Given the description of an element on the screen output the (x, y) to click on. 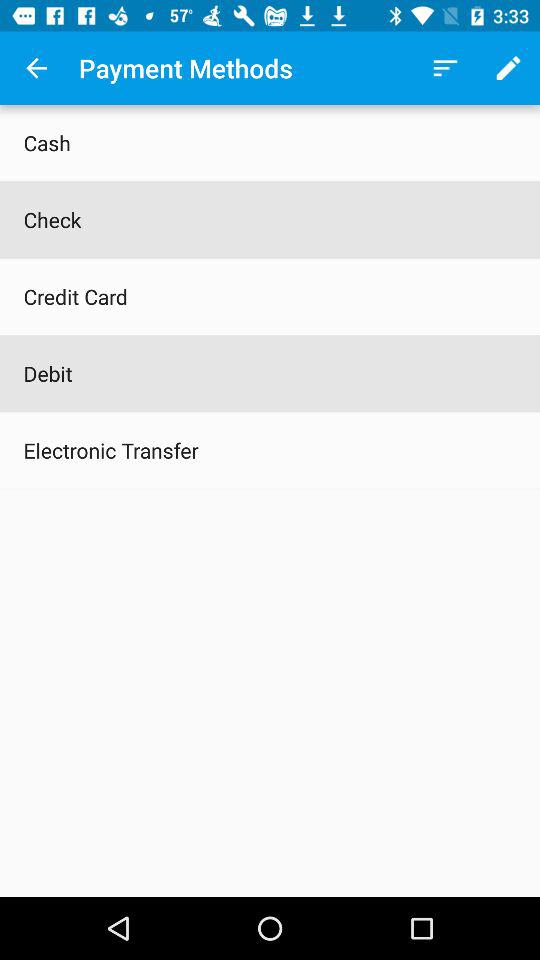
select item above cash icon (36, 68)
